Given the description of an element on the screen output the (x, y) to click on. 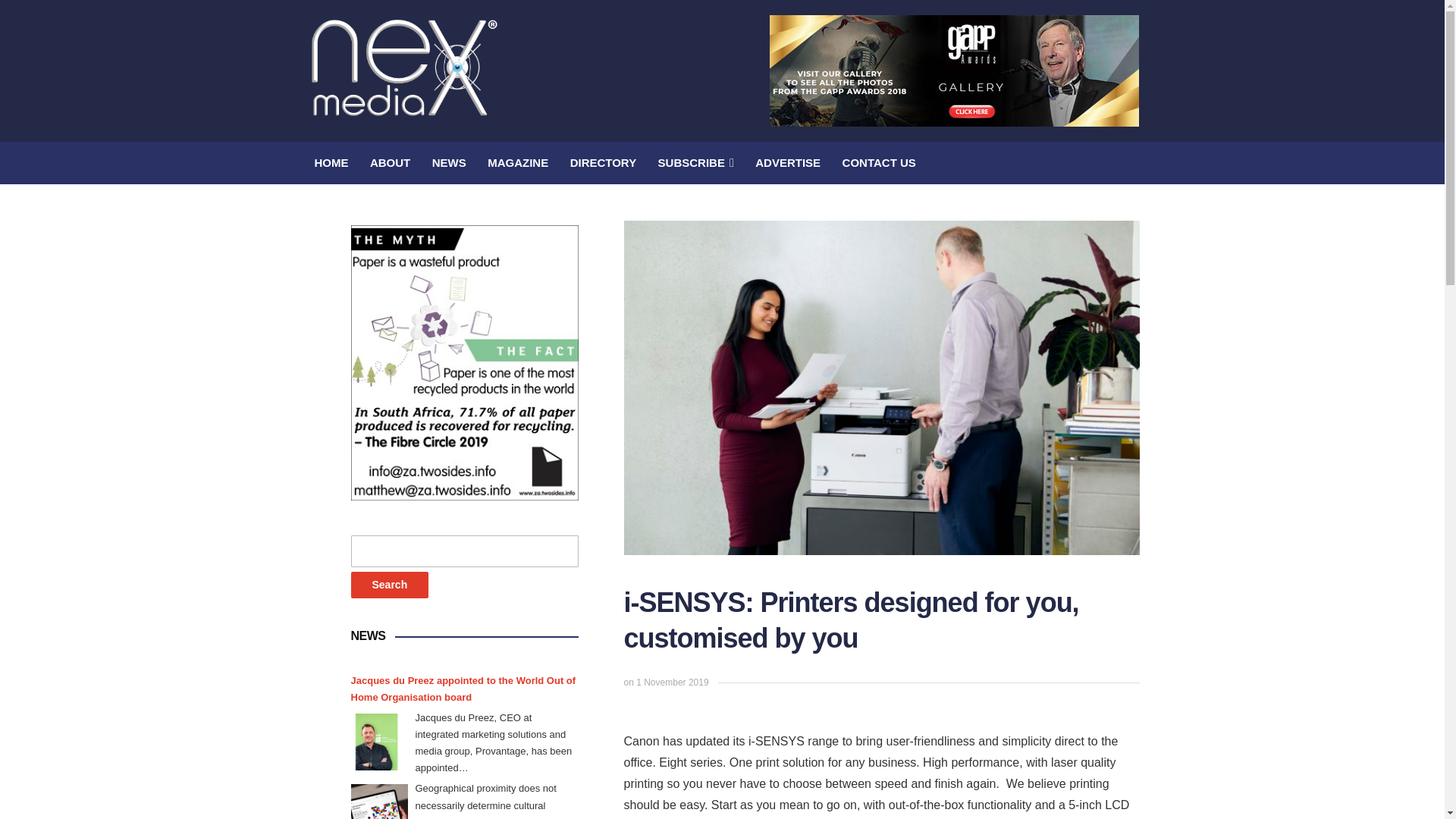
Search (389, 584)
ABOUT (390, 162)
SUBSCRIBE (695, 162)
CONTACT US (879, 162)
NEWS (448, 162)
DIRECTORY (604, 162)
MAGAZINE (518, 162)
Search (389, 584)
ADVERTISE (788, 162)
HOME (331, 162)
